Given the description of an element on the screen output the (x, y) to click on. 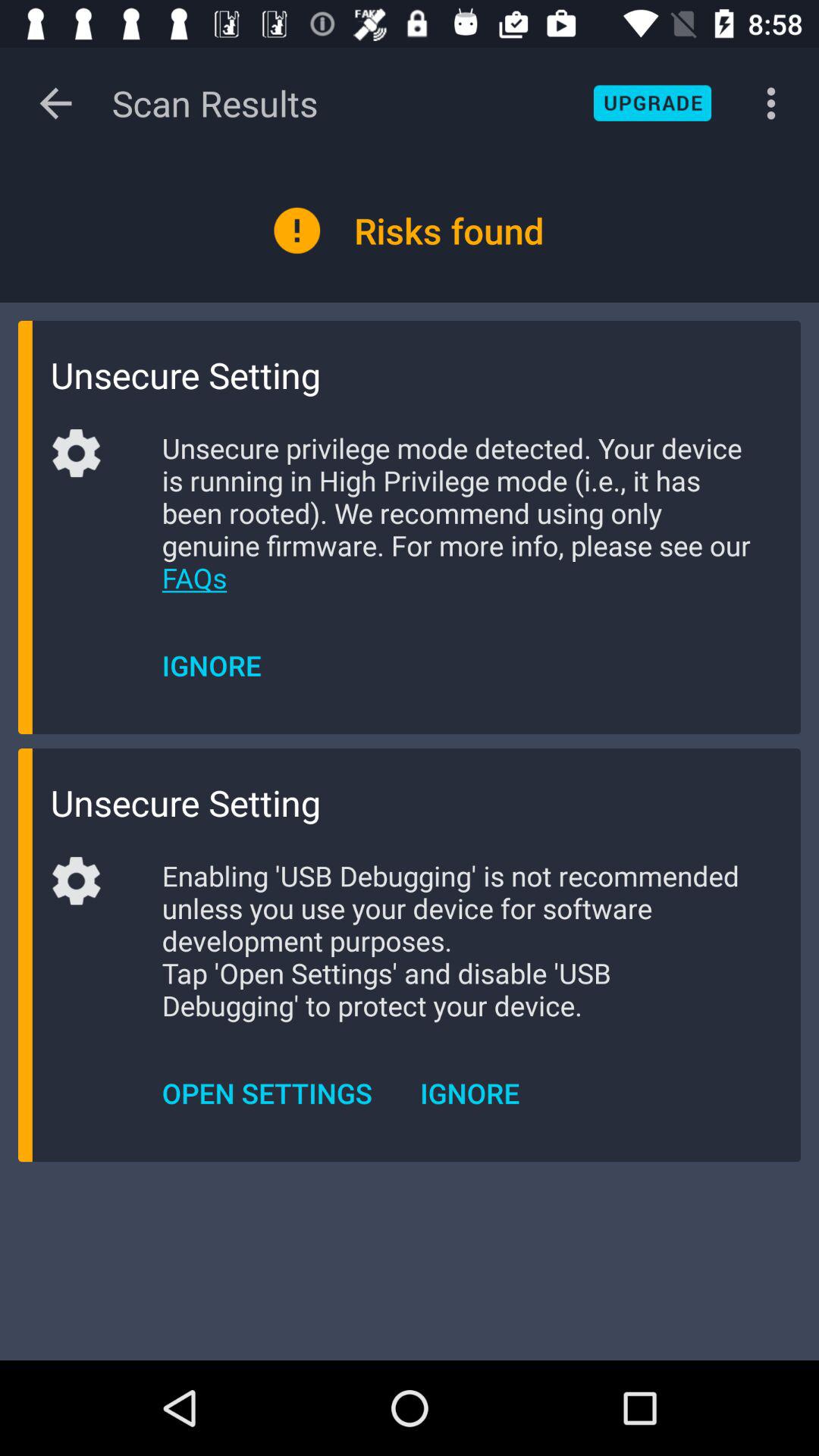
go back (55, 103)
